Given the description of an element on the screen output the (x, y) to click on. 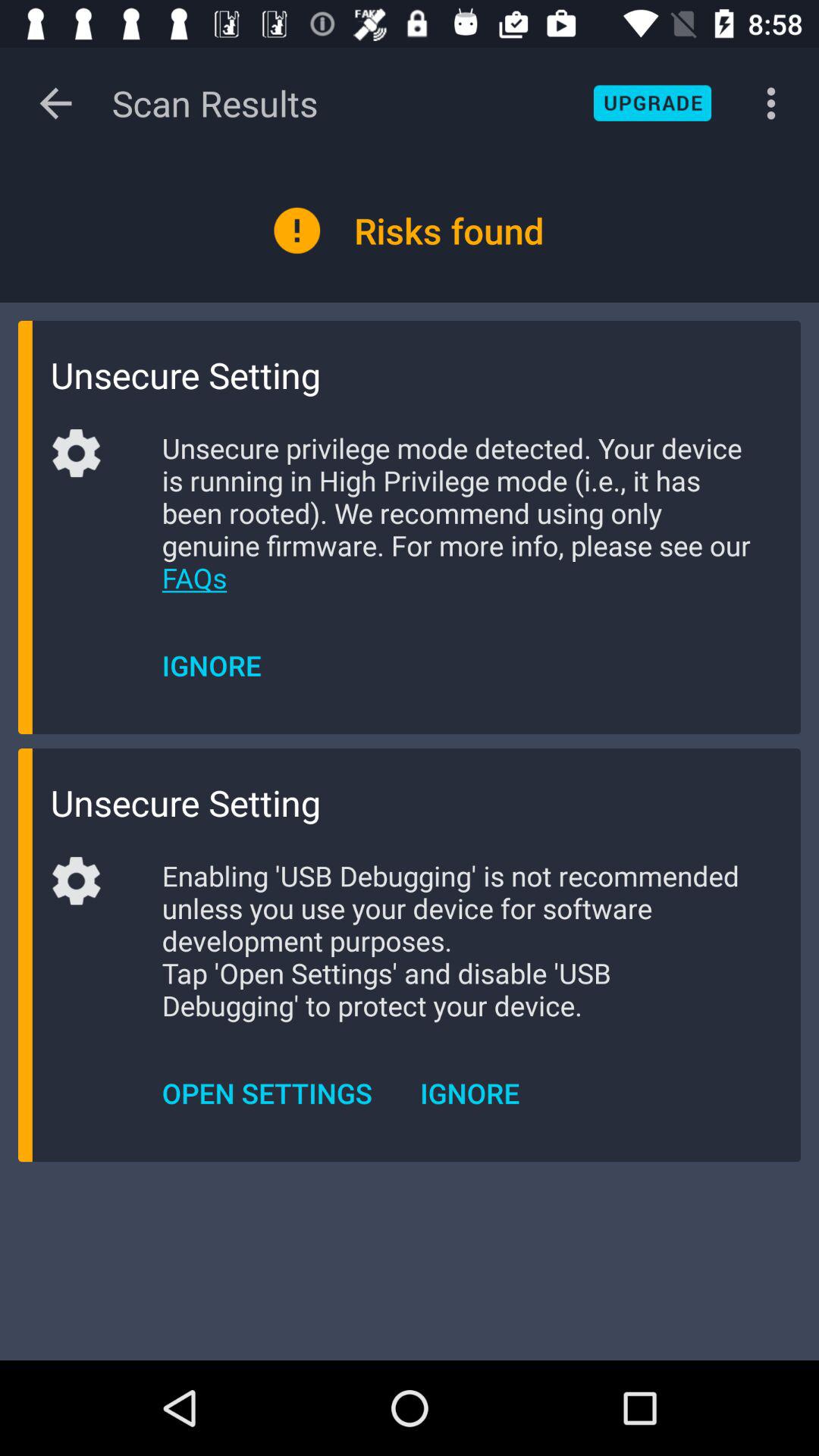
go back (55, 103)
